Given the description of an element on the screen output the (x, y) to click on. 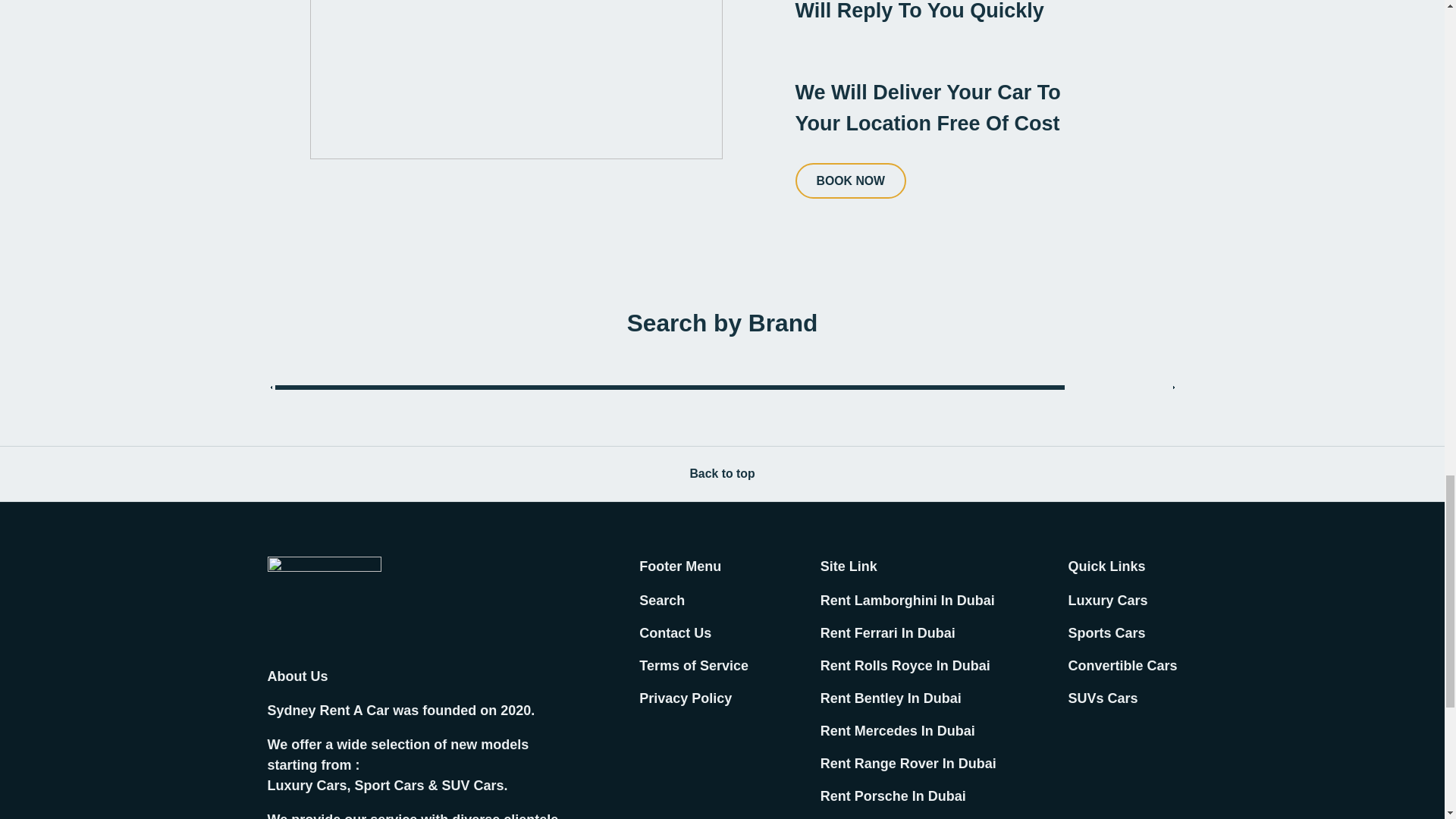
Search (661, 600)
Contact Us (675, 632)
BOOK NOW (849, 180)
